Given the description of an element on the screen output the (x, y) to click on. 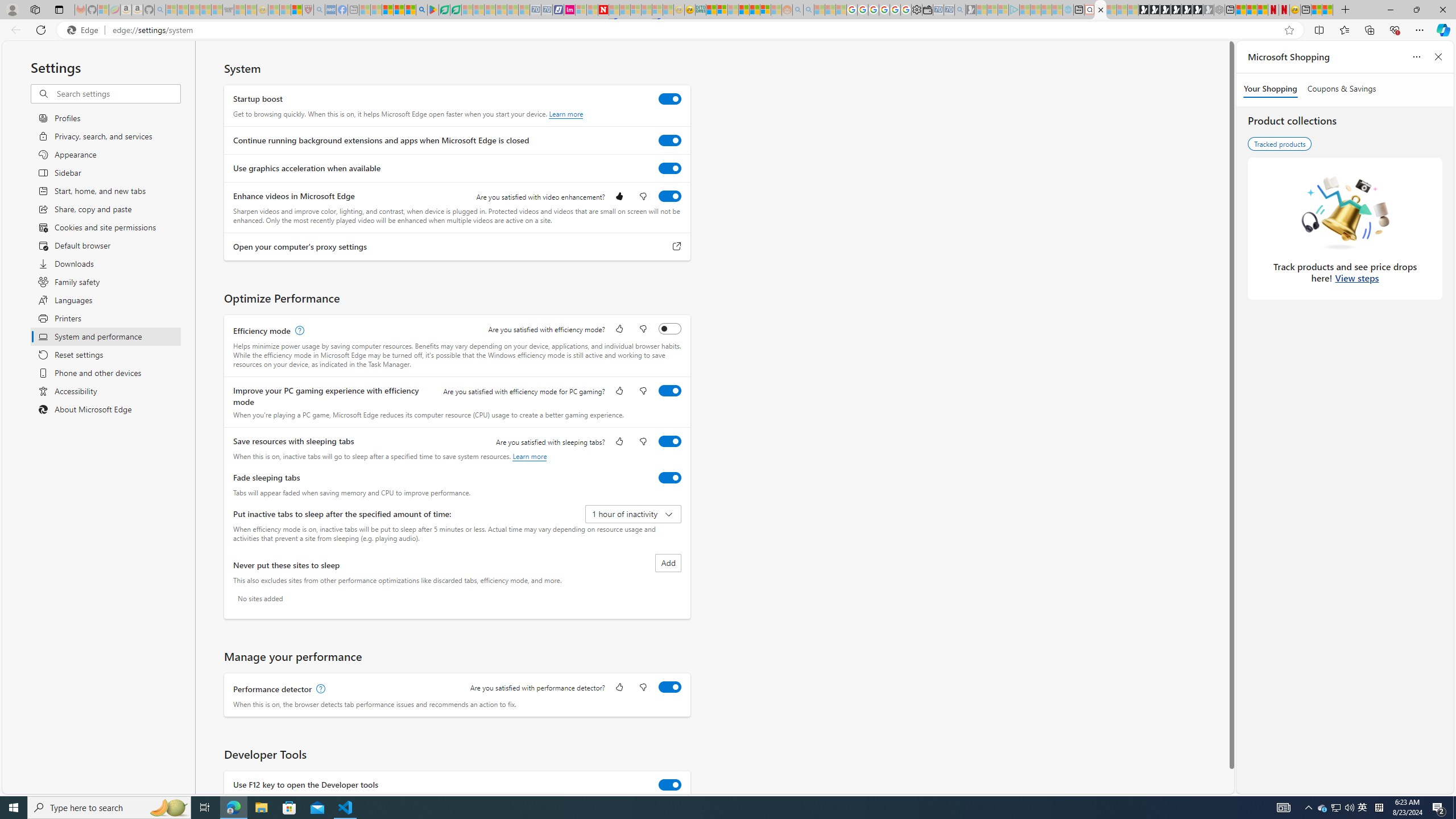
Expert Portfolios (743, 9)
Utah sues federal government - Search - Sleeping (807, 9)
Use graphics acceleration when available (669, 167)
Save resources with sleeping tabs (669, 441)
